Given the description of an element on the screen output the (x, y) to click on. 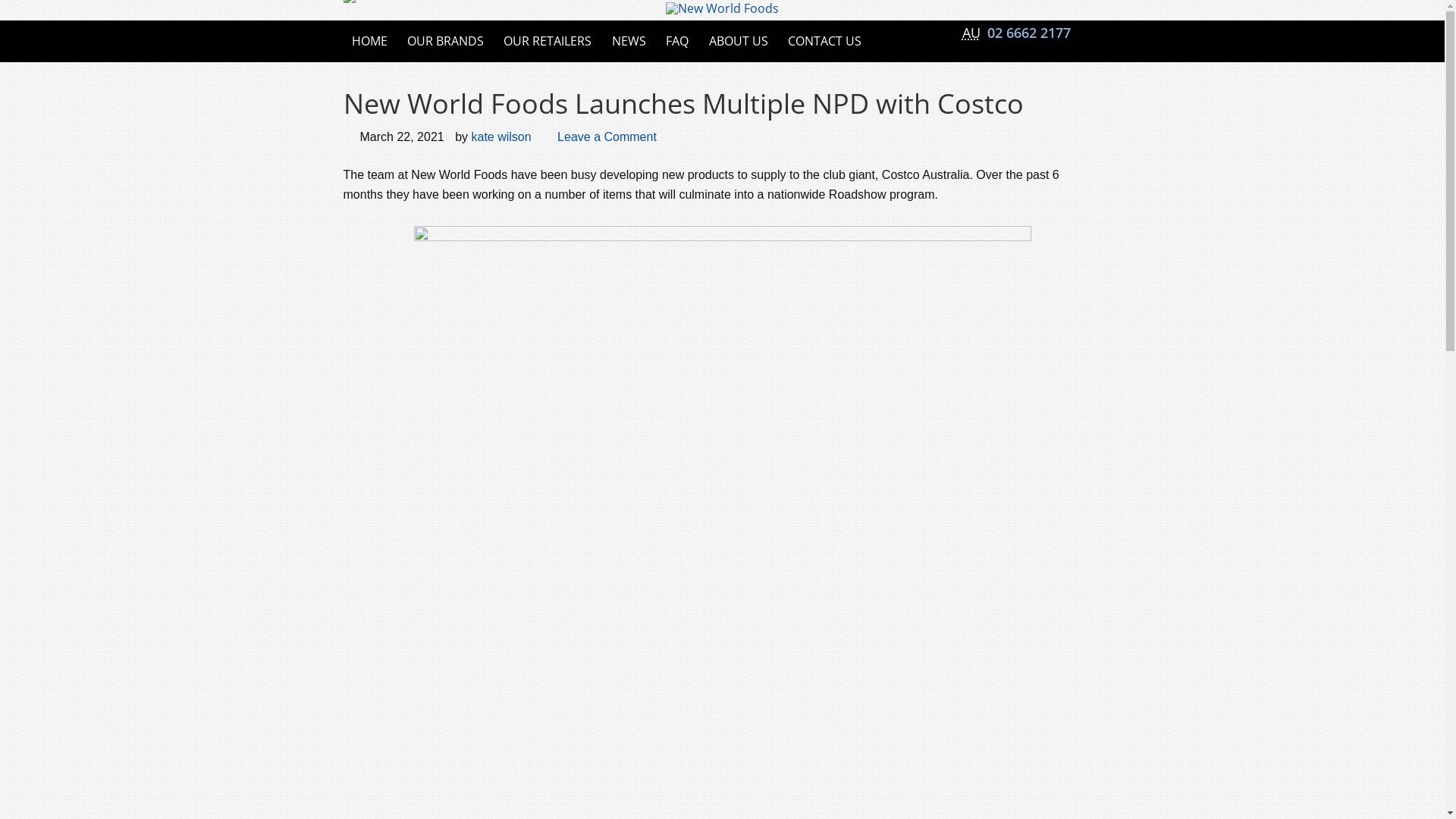
OUR RETAILERS Element type: text (547, 40)
FAQ Element type: text (676, 40)
HOME Element type: text (368, 40)
kate wilson Element type: text (500, 136)
ABOUT US Element type: text (737, 40)
New World Foods Element type: hover (721, 8)
CONTACT US Element type: text (824, 40)
Leave a Comment Element type: text (606, 136)
OUR BRANDS Element type: text (445, 40)
NEWS Element type: text (628, 40)
